Given the description of an element on the screen output the (x, y) to click on. 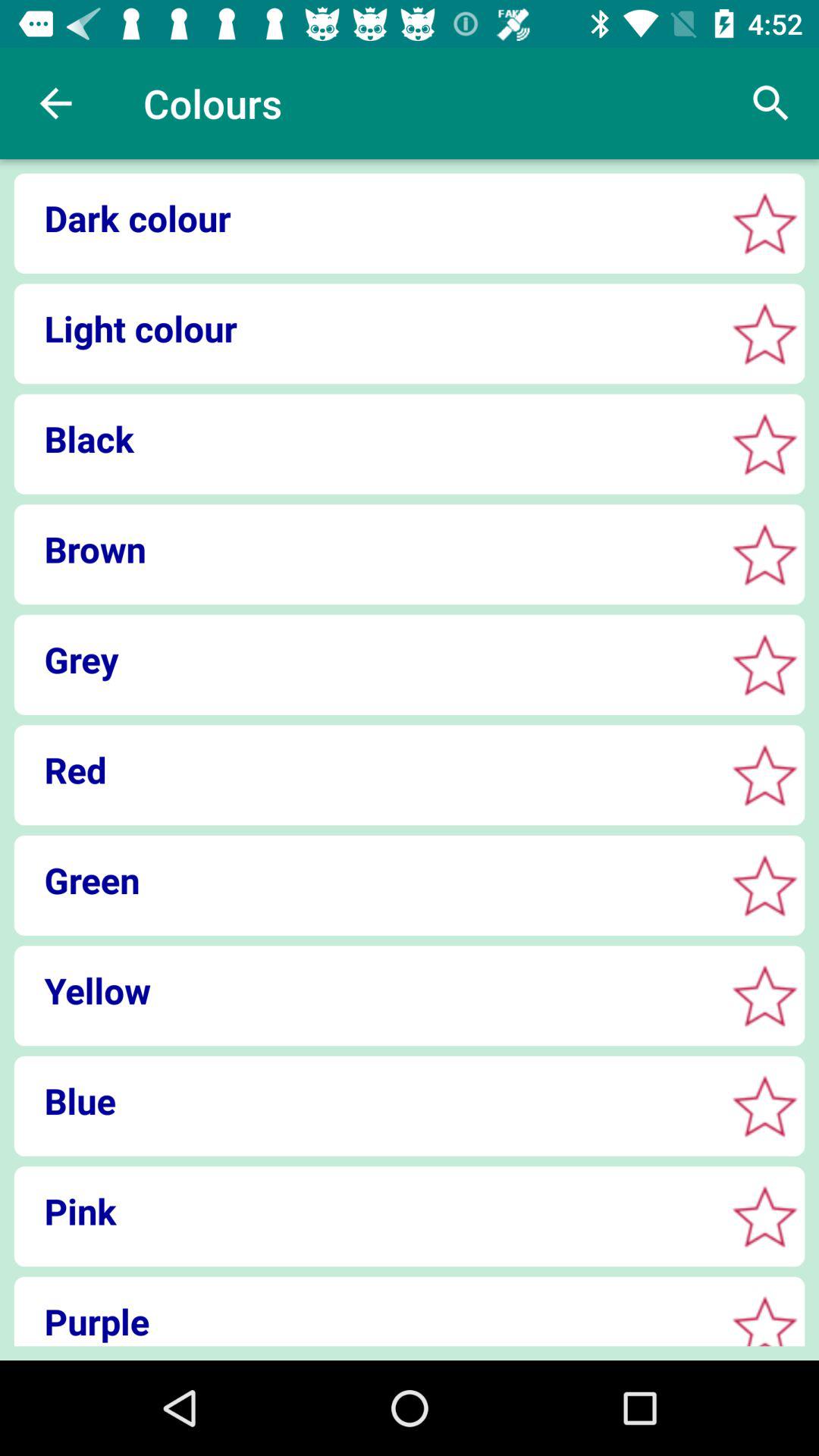
fill in the star by clicking on it to indicate color choice pink (764, 1216)
